Given the description of an element on the screen output the (x, y) to click on. 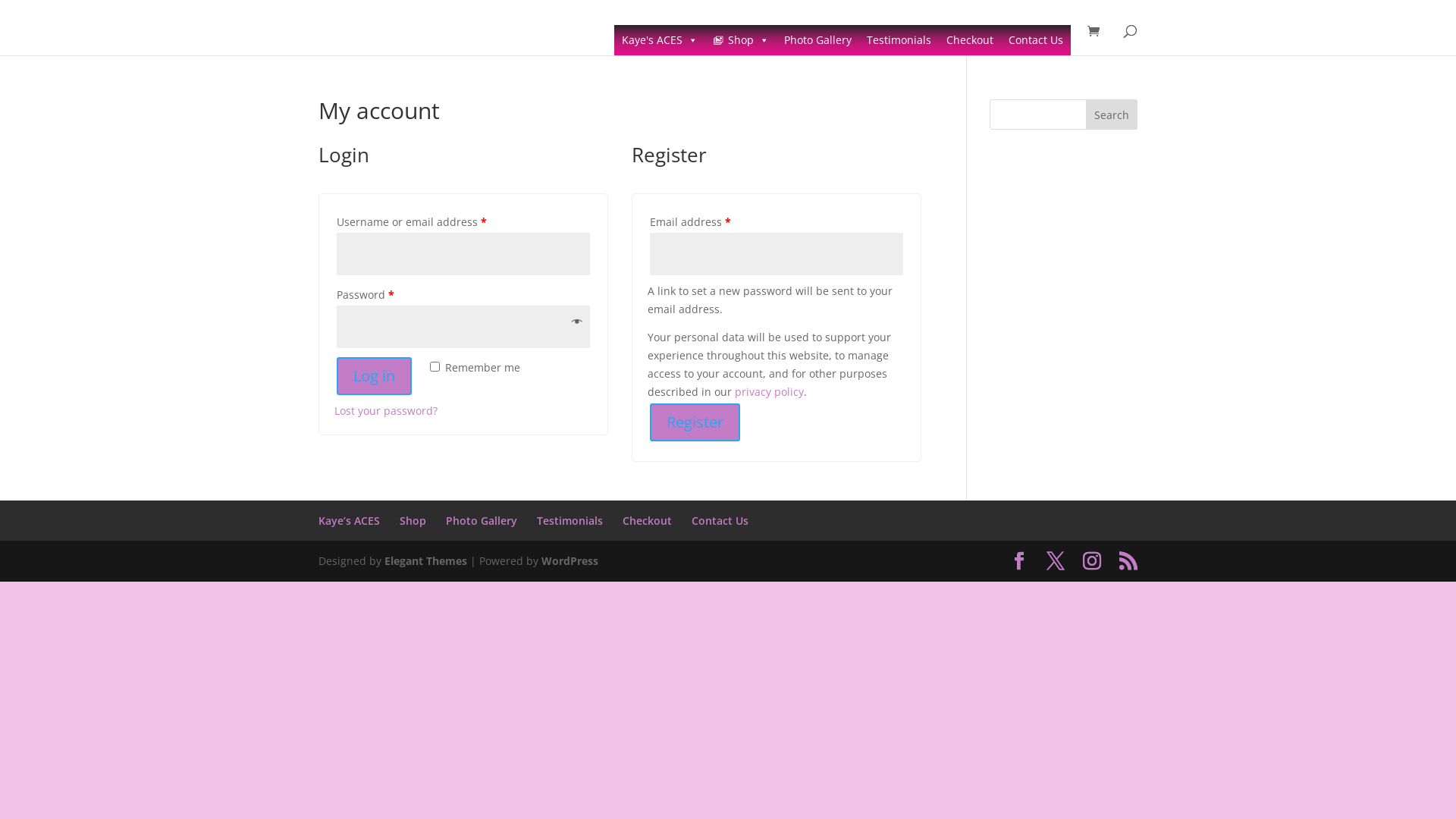
RSS Element type: hover (1295, 34)
Photo Gallery Element type: text (481, 520)
Register Element type: text (694, 422)
Search Element type: text (1111, 114)
Elegant Themes Element type: text (425, 560)
Instagram Element type: hover (1398, 34)
Testimonials Element type: text (898, 40)
Photo Gallery Element type: text (817, 40)
Log in Element type: text (373, 376)
WordPress Element type: text (569, 560)
Contact Us Element type: text (719, 520)
Facebook Element type: hover (1364, 34)
Kaye's ACES Element type: text (659, 40)
Shop Element type: text (412, 520)
privacy policy Element type: text (768, 391)
Contact Us Element type: text (1035, 40)
Lost your password? Element type: text (385, 410)
Checkout Element type: text (969, 40)
Checkout Element type: text (646, 520)
Shop Element type: text (740, 40)
Follow by Email Element type: hover (1329, 34)
Testimonials Element type: text (569, 520)
